Given the description of an element on the screen output the (x, y) to click on. 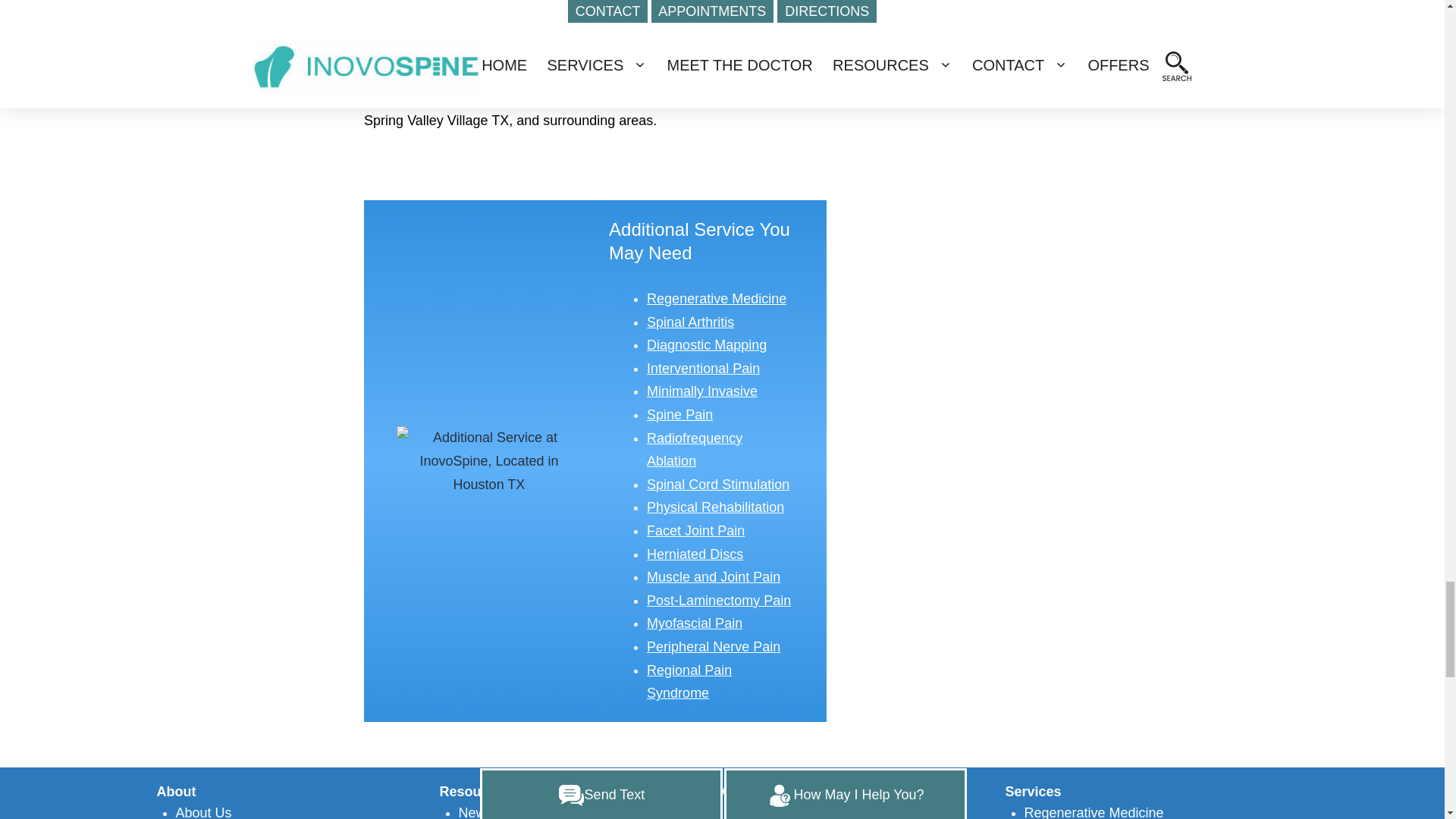
Additional Service at InovoSpine, Located in Houston TX (488, 460)
